Given the description of an element on the screen output the (x, y) to click on. 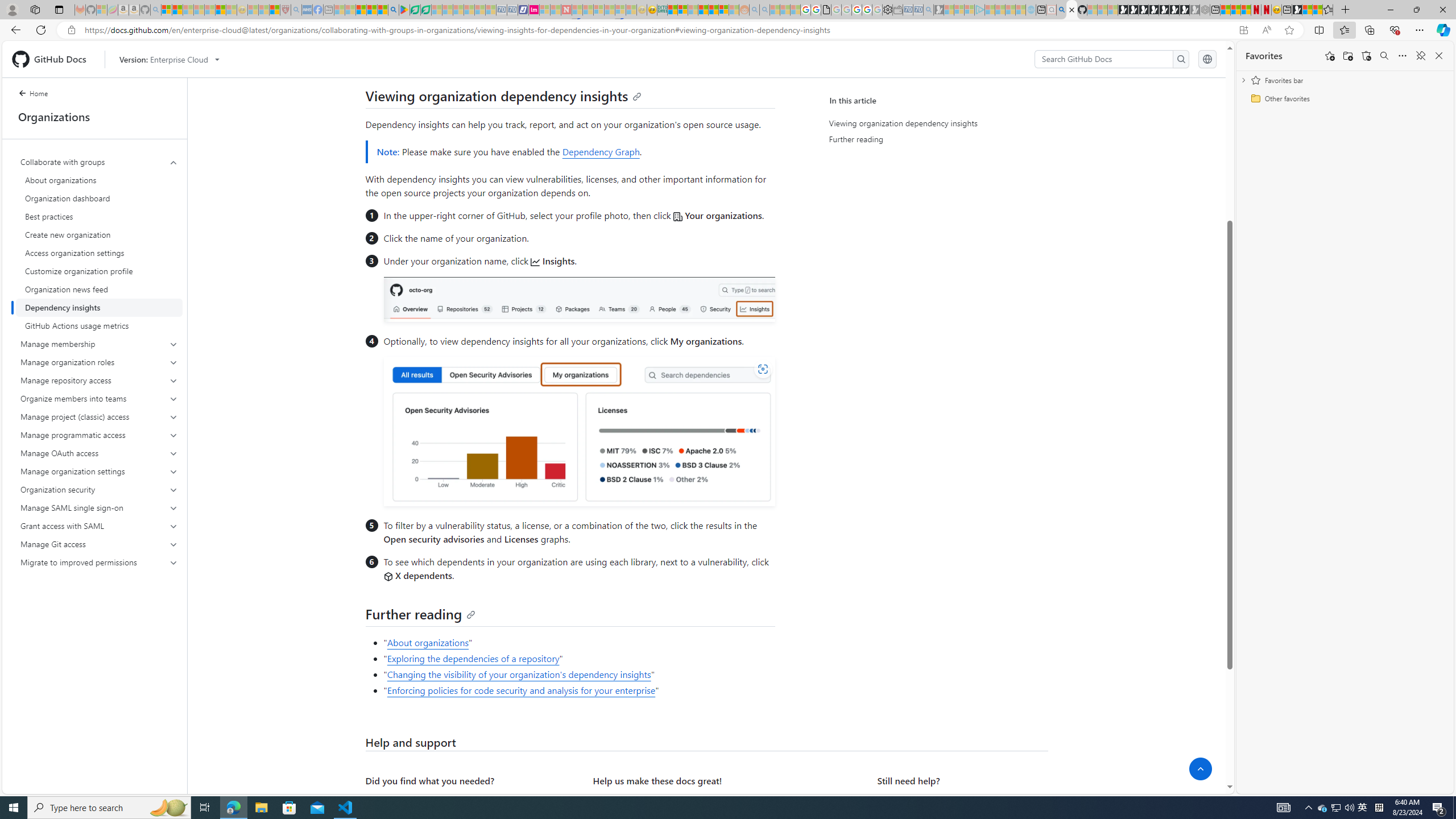
Close favorites (1439, 55)
Scroll to top (1200, 768)
Search GitHub Docs (1104, 58)
GitHub Docs (53, 58)
Customize organization profile (99, 271)
Manage Git access (99, 543)
